Given the description of an element on the screen output the (x, y) to click on. 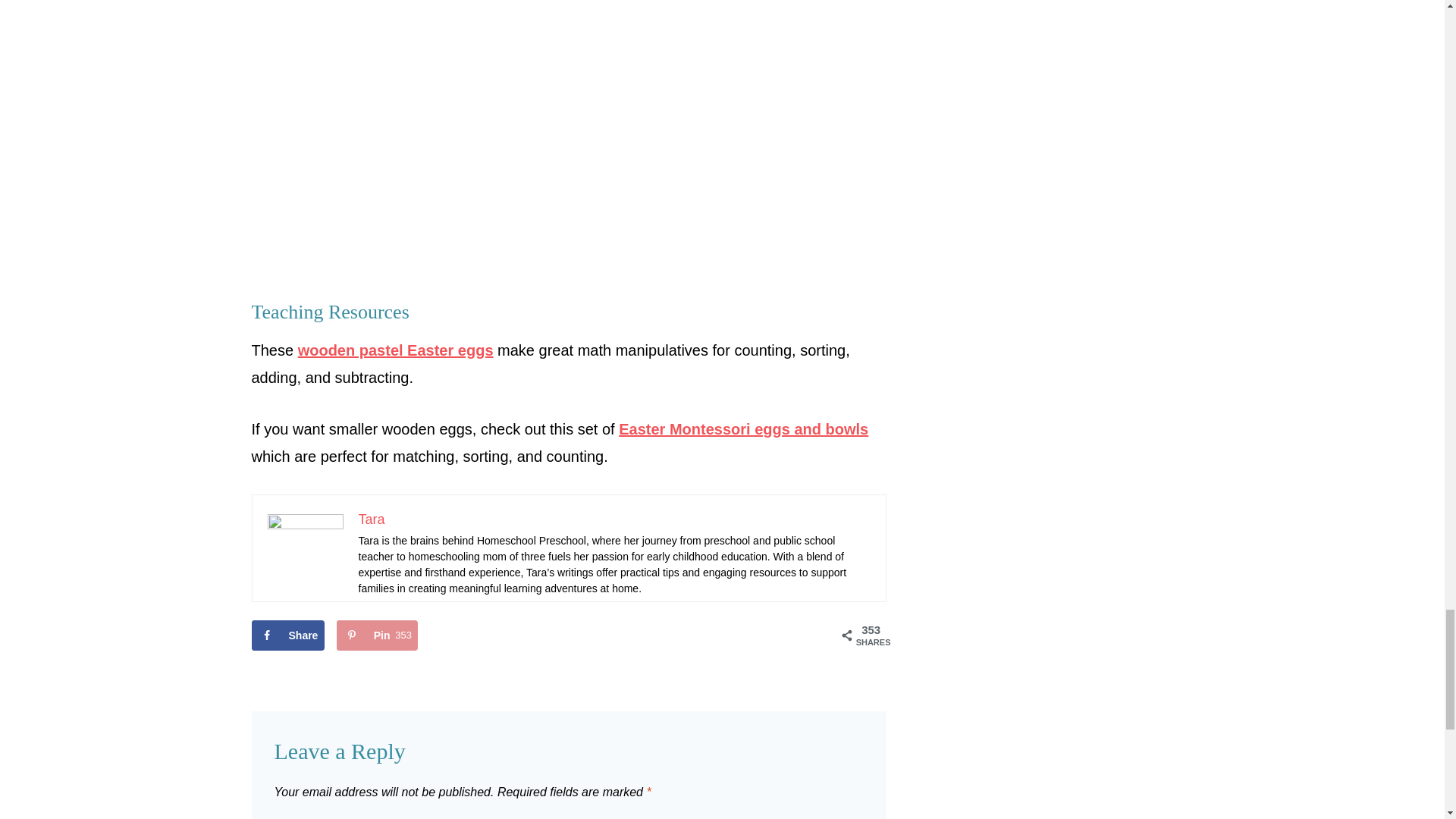
wooden pastel Easter eggs (395, 350)
Save to Pinterest (377, 634)
Share on Facebook (287, 634)
